Given the description of an element on the screen output the (x, y) to click on. 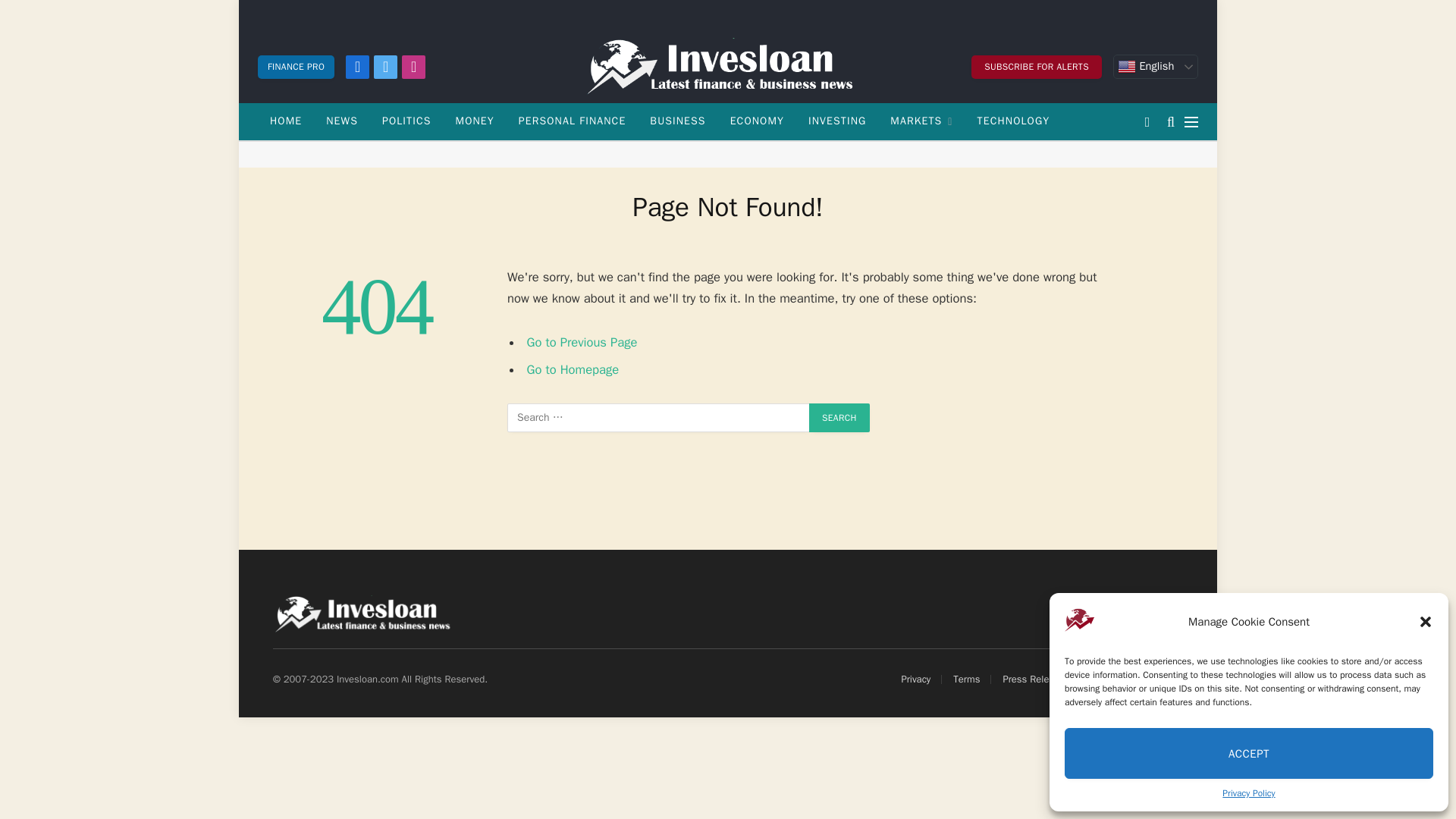
NEWS (341, 121)
SUBSCRIBE FOR ALERTS (1036, 65)
Facebook (357, 65)
Twitter (385, 65)
Search (839, 417)
invesloan.com (727, 66)
English (1155, 66)
Switch to Dark Design - easier on eyes. (1147, 121)
FINANCE PRO (295, 65)
HOME (285, 121)
Instagram (413, 65)
Search (839, 417)
